Given the description of an element on the screen output the (x, y) to click on. 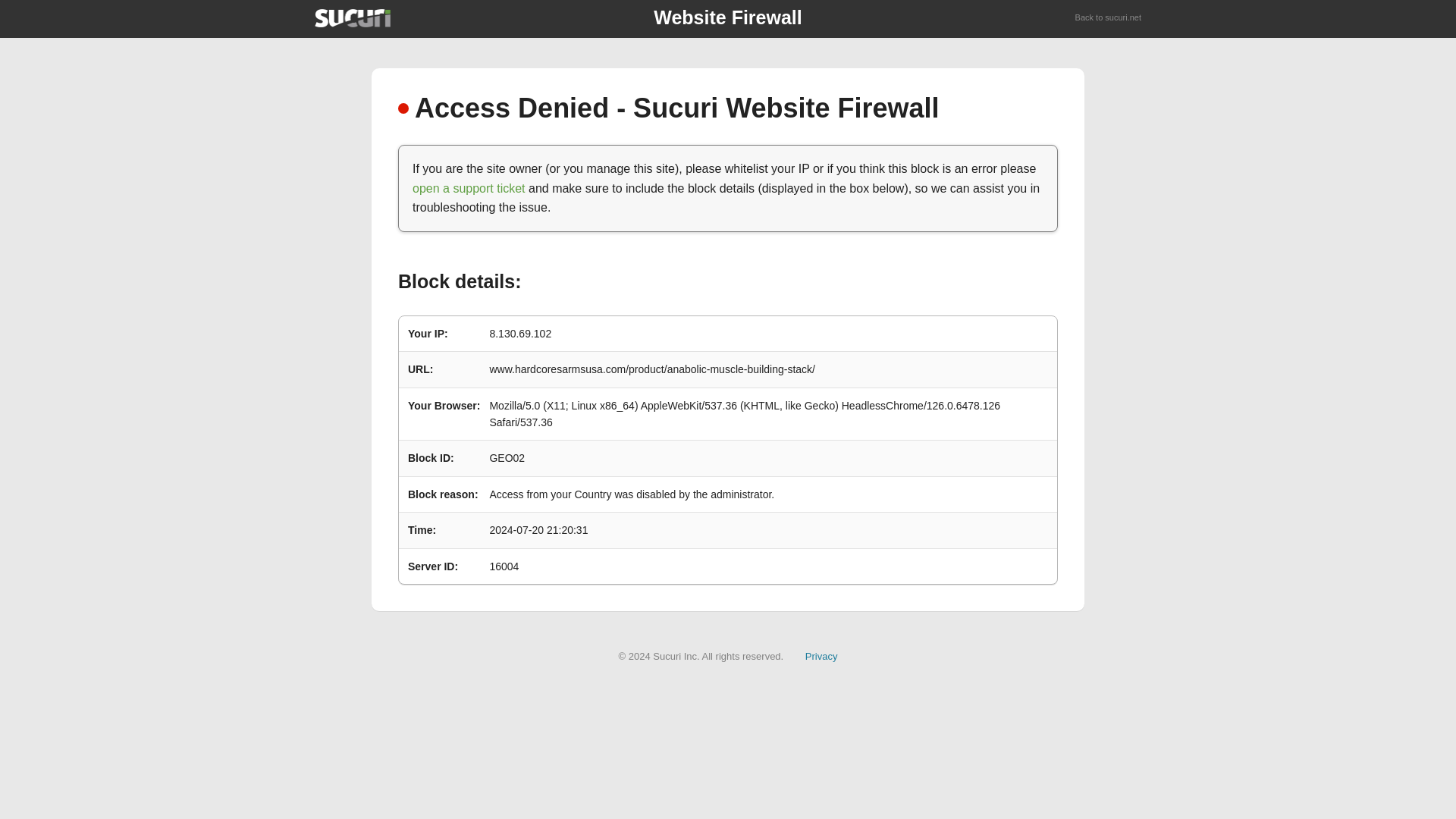
Privacy (821, 655)
open a support ticket (468, 187)
Back to sucuri.net (1108, 18)
